Given the description of an element on the screen output the (x, y) to click on. 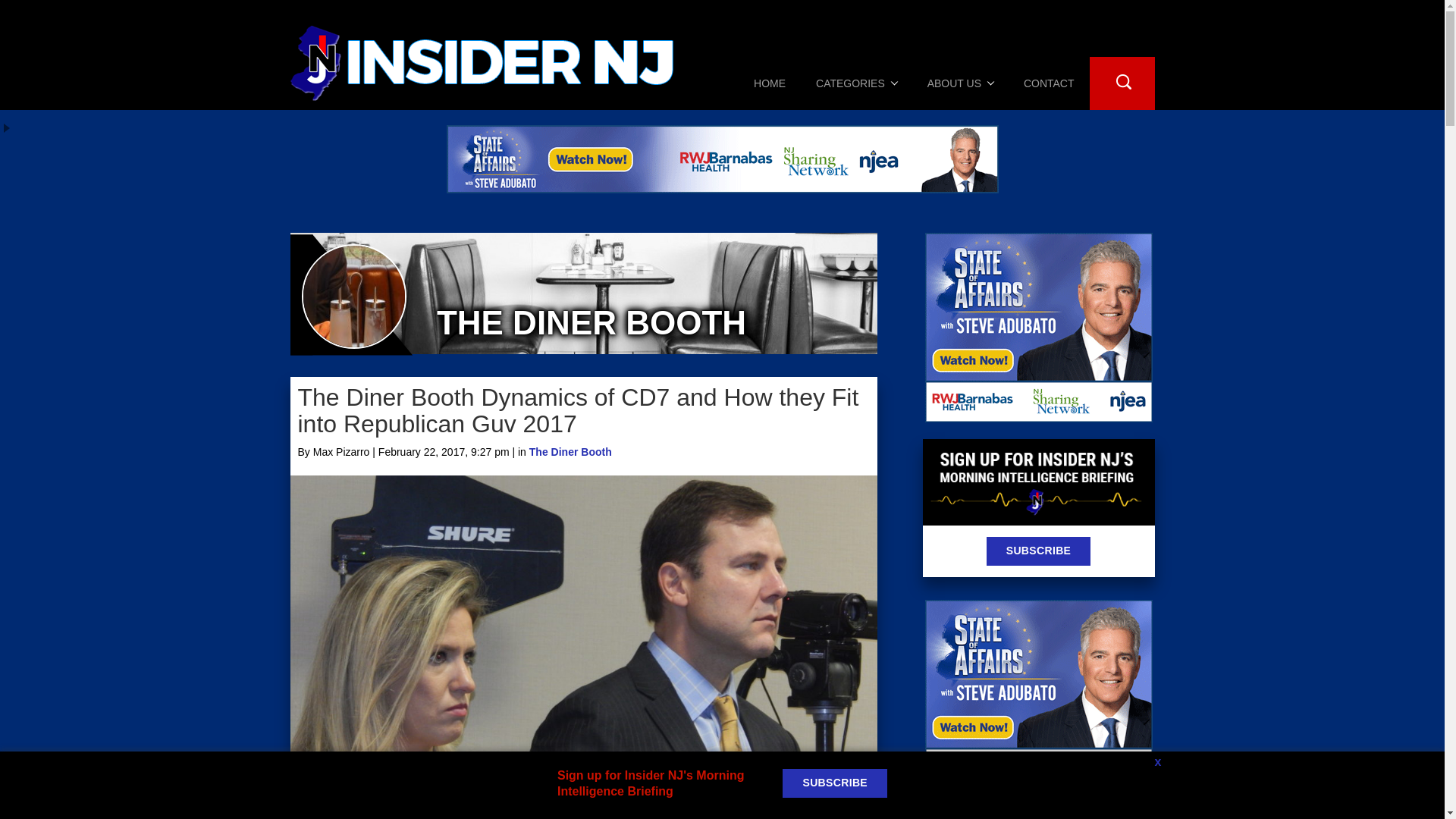
Categories (856, 82)
HOME (769, 82)
Contact (1049, 82)
Home (769, 82)
The Diner Booth (570, 451)
About Us (960, 82)
CONTACT (1049, 82)
CATEGORIES (856, 82)
ABOUT US (960, 82)
